Given the description of an element on the screen output the (x, y) to click on. 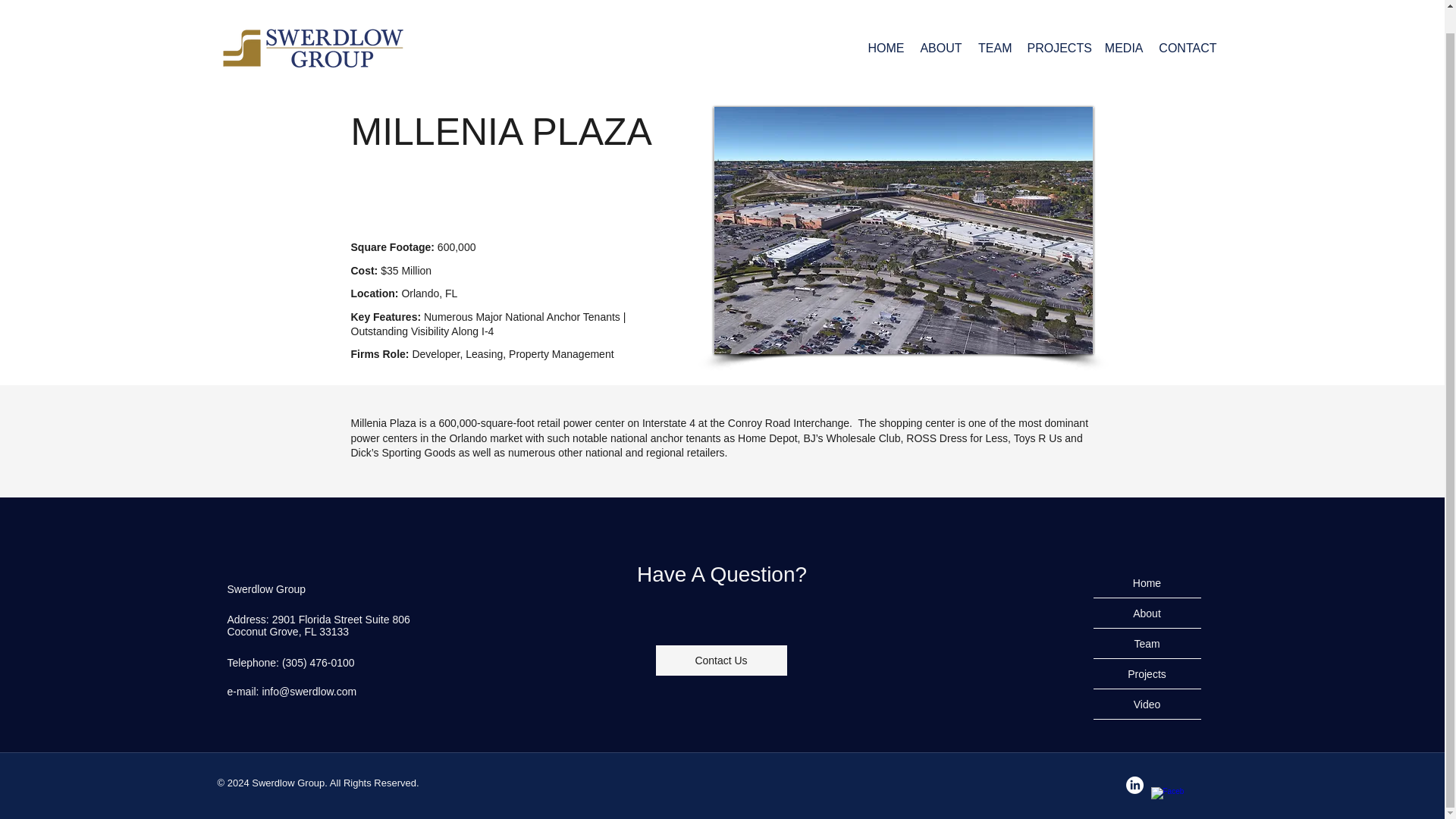
Video (1147, 704)
TEAM (994, 24)
Home (1147, 583)
Team (1147, 643)
CONTACT (1187, 24)
HOME (885, 24)
Projects (1147, 674)
MEDIA (1122, 24)
About (1147, 613)
ABOUT (940, 24)
